Given the description of an element on the screen output the (x, y) to click on. 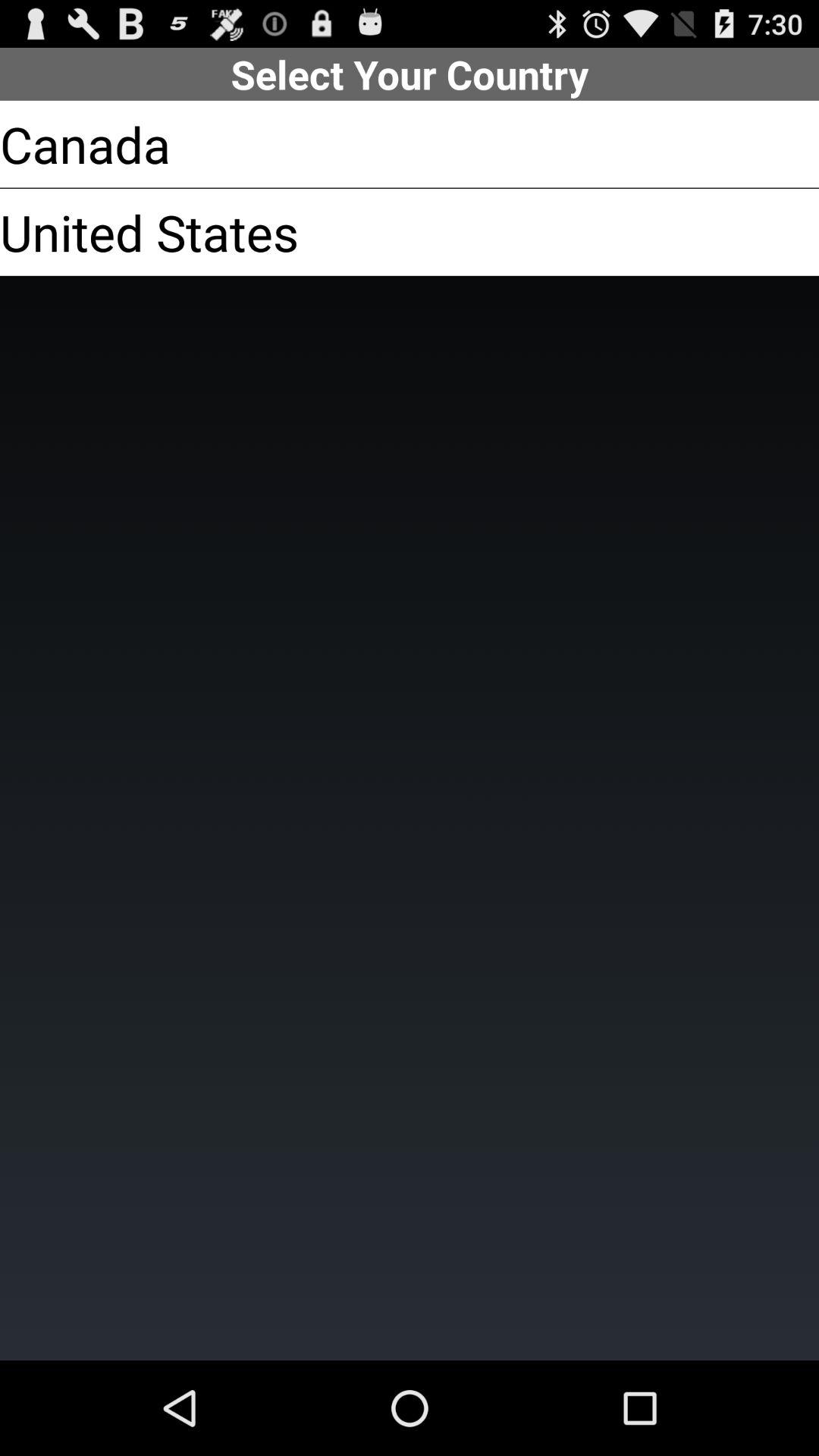
open the united states item (149, 232)
